Given the description of an element on the screen output the (x, y) to click on. 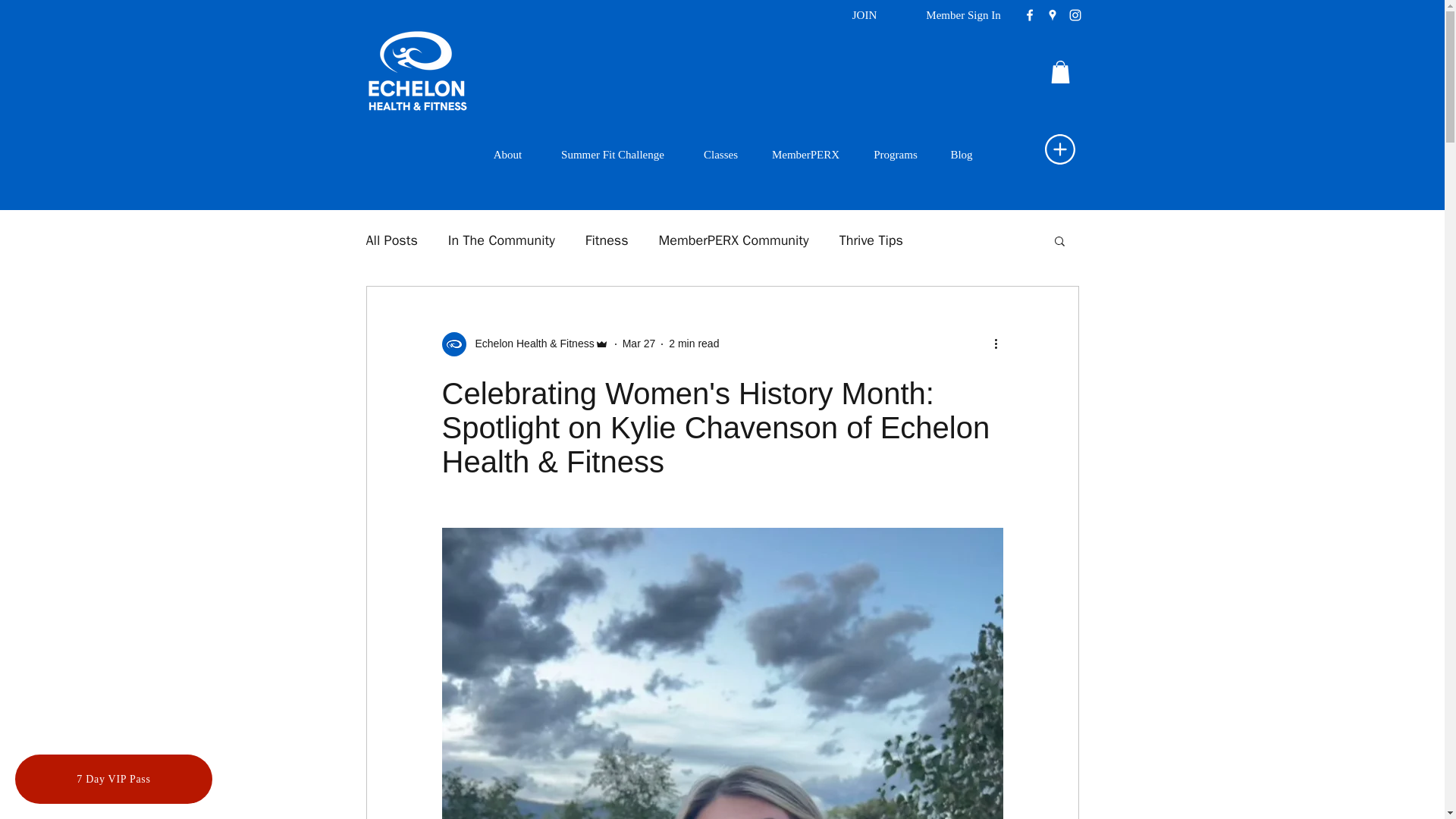
Classes (720, 154)
MemberPERX (805, 154)
Mar 27 (639, 343)
Summer Fit Challenge (612, 154)
In The Community (501, 239)
Member Sign In (963, 15)
About (508, 154)
JOIN (864, 15)
2 min read (693, 343)
All Posts (390, 239)
